Given the description of an element on the screen output the (x, y) to click on. 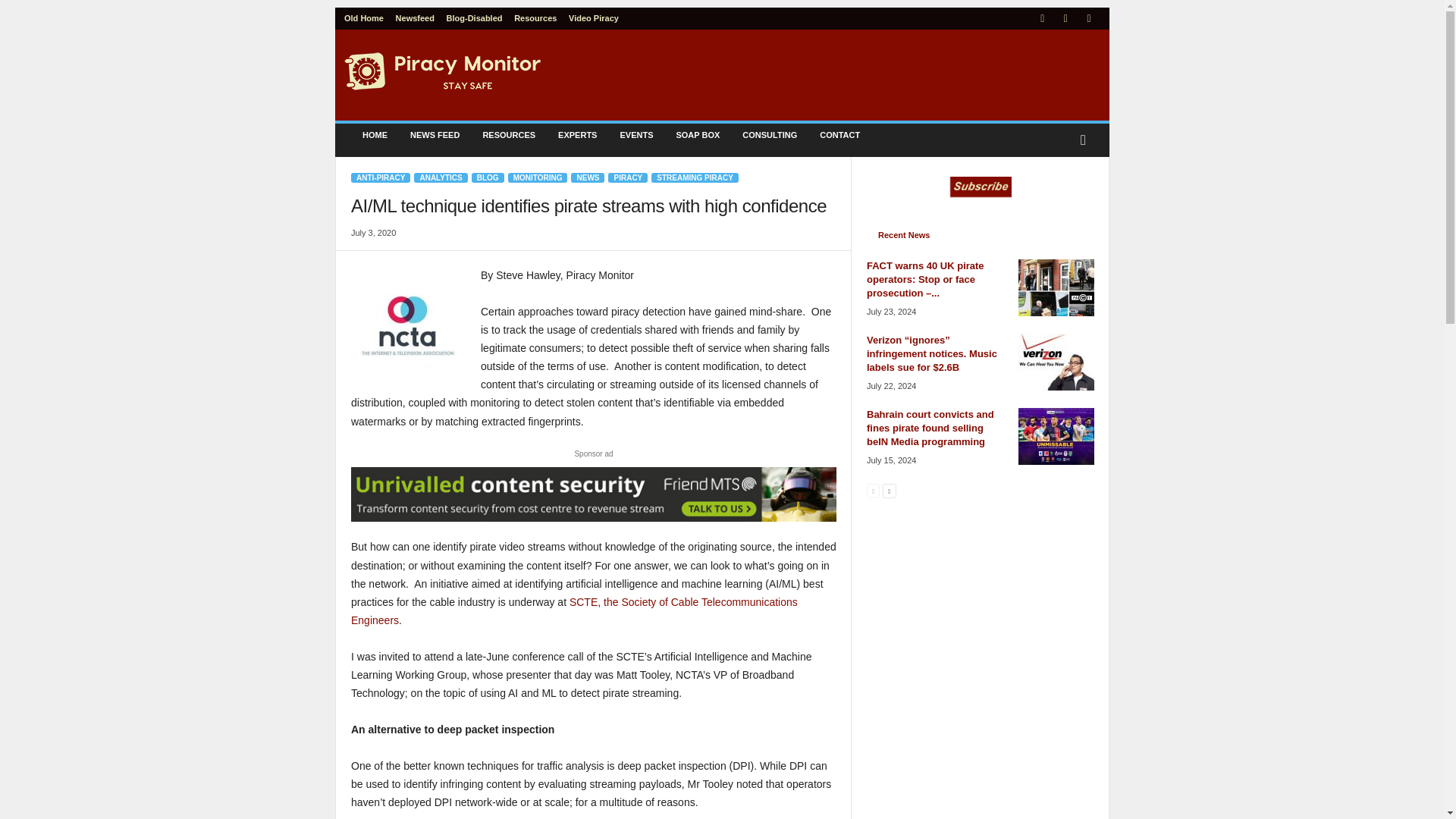
HOME (374, 134)
SOAP BOX (696, 134)
EVENTS (635, 134)
Newsfeed (414, 17)
Video Piracy (593, 17)
EXPERTS (577, 134)
Piracy Monitor (442, 70)
Blog-Disabled (474, 17)
Resources (534, 17)
RESOURCES (508, 134)
